Given the description of an element on the screen output the (x, y) to click on. 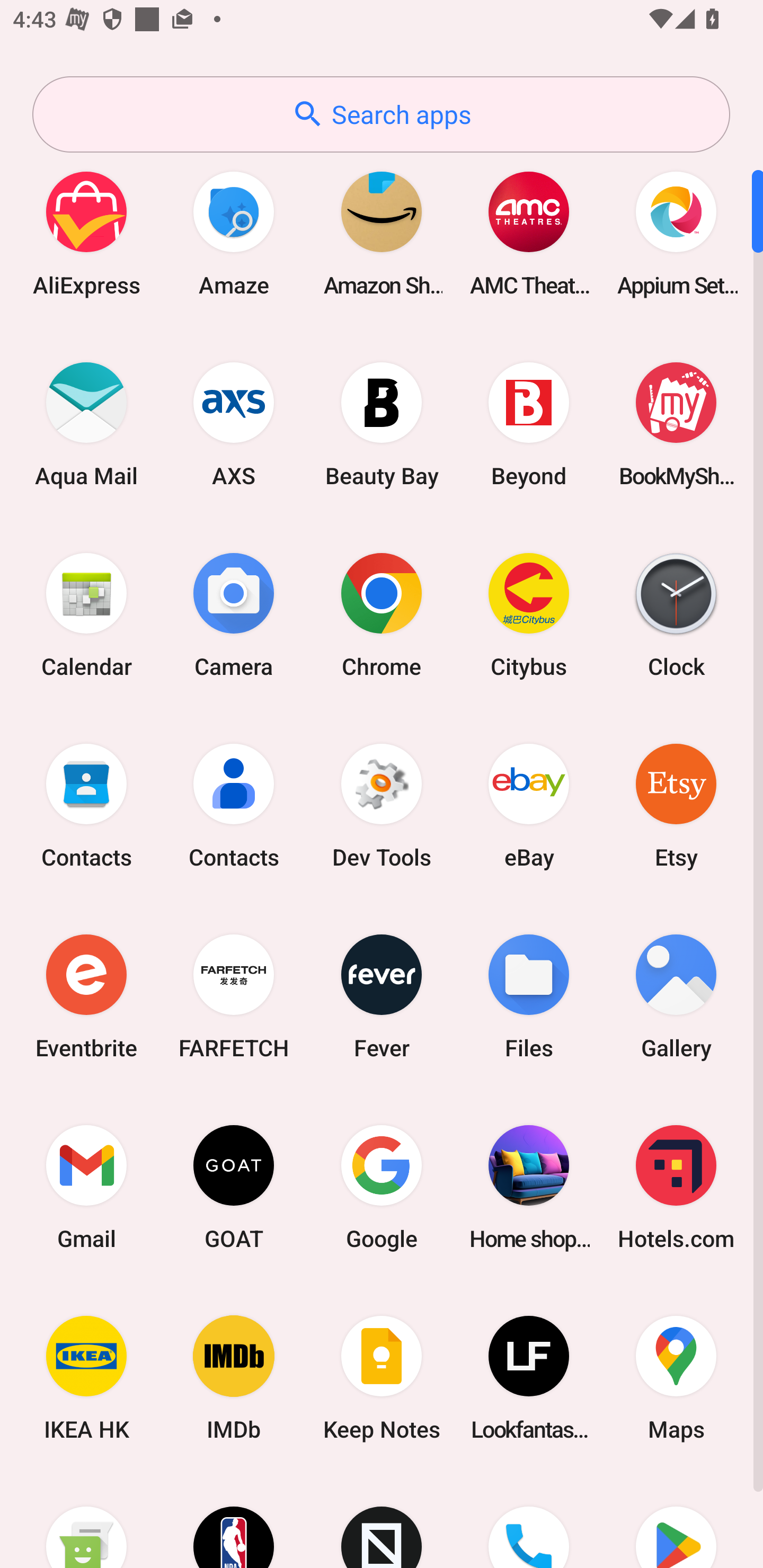
  Search apps (381, 114)
AliExpress (86, 233)
Amaze (233, 233)
Amazon Shopping (381, 233)
AMC Theatres (528, 233)
Appium Settings (676, 233)
Aqua Mail (86, 424)
AXS (233, 424)
Beauty Bay (381, 424)
Beyond (528, 424)
BookMyShow (676, 424)
Calendar (86, 614)
Camera (233, 614)
Chrome (381, 614)
Citybus (528, 614)
Clock (676, 614)
Contacts (86, 805)
Contacts (233, 805)
Dev Tools (381, 805)
eBay (528, 805)
Etsy (676, 805)
Eventbrite (86, 996)
FARFETCH (233, 996)
Fever (381, 996)
Files (528, 996)
Gallery (676, 996)
Gmail (86, 1186)
GOAT (233, 1186)
Google (381, 1186)
Home shopping (528, 1186)
Hotels.com (676, 1186)
IKEA HK (86, 1377)
IMDb (233, 1377)
Keep Notes (381, 1377)
Lookfantastic (528, 1377)
Maps (676, 1377)
